Given the description of an element on the screen output the (x, y) to click on. 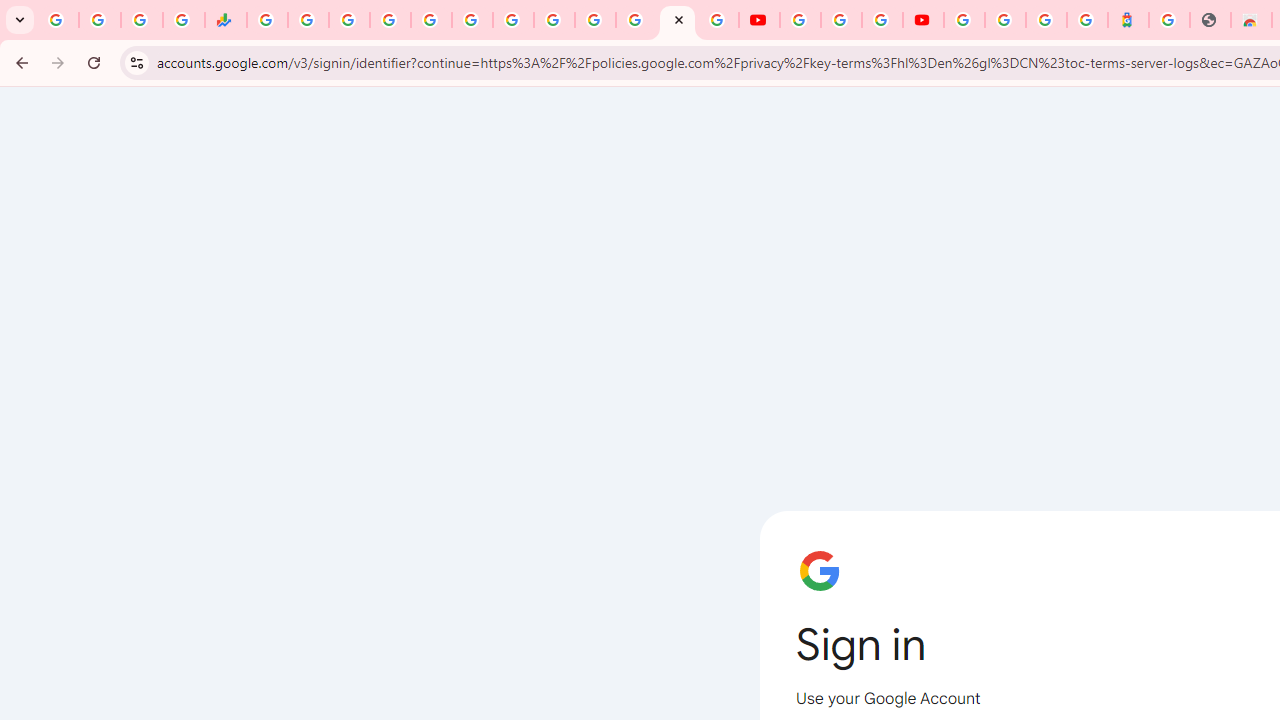
YouTube (799, 20)
Atour Hotel - Google hotels (1128, 20)
Google Workspace Admin Community (58, 20)
Android TV Policies and Guidelines - Transparency Center (512, 20)
Sign in - Google Accounts (676, 20)
Content Creator Programs & Opportunities - YouTube Creators (923, 20)
Create your Google Account (881, 20)
Sign in - Google Accounts (389, 20)
